Given the description of an element on the screen output the (x, y) to click on. 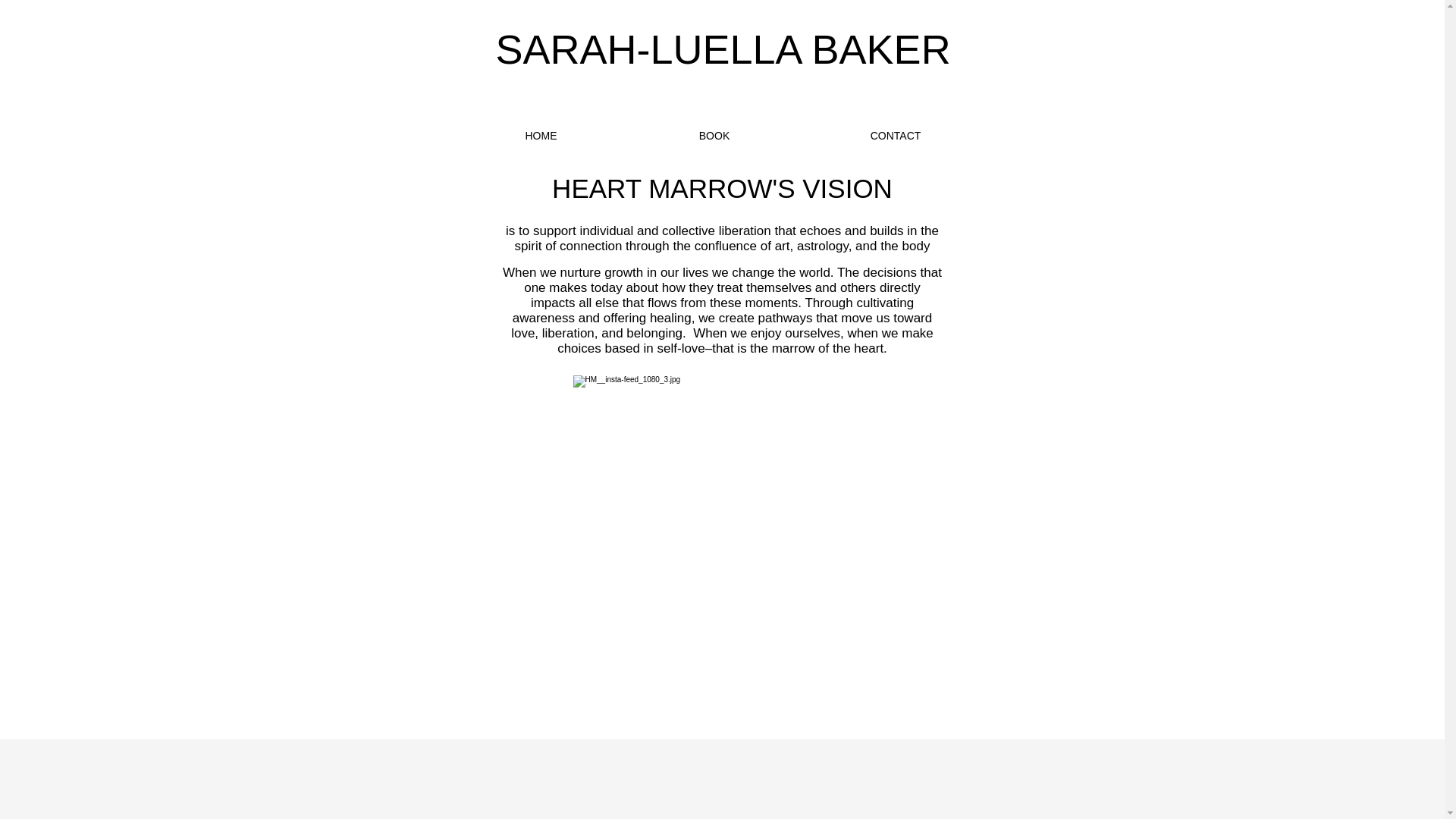
BOOK (713, 135)
HOME (539, 135)
SARAH-LUELLA BAKER (722, 49)
CONTACT (895, 135)
